Given the description of an element on the screen output the (x, y) to click on. 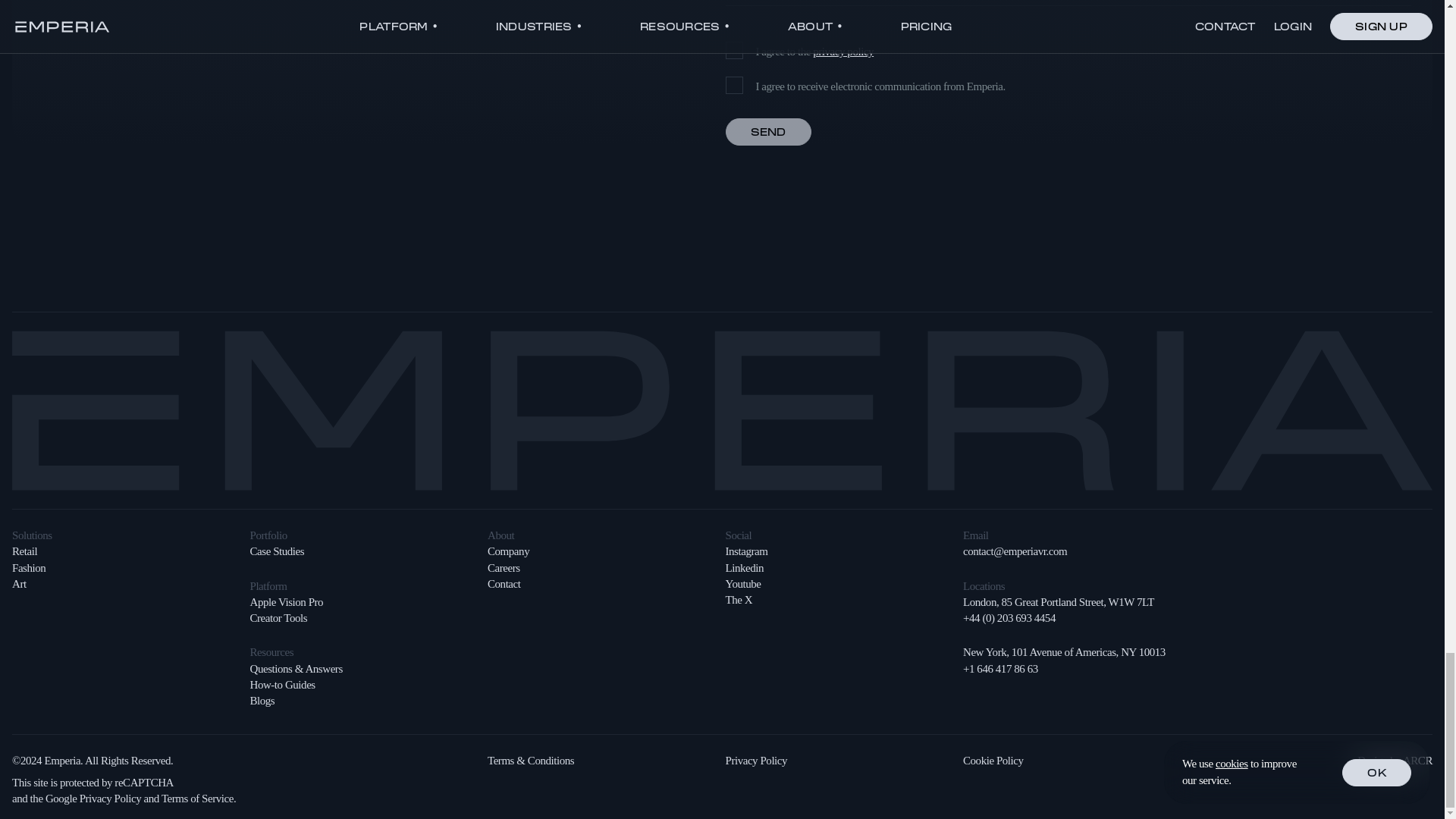
Call us (1008, 617)
Check on Google Maps (1058, 602)
Instagram (746, 551)
Youtube (742, 583)
Linkedin (743, 567)
The X (738, 599)
Check on Google Maps (1064, 652)
Email us (1014, 551)
